Given the description of an element on the screen output the (x, y) to click on. 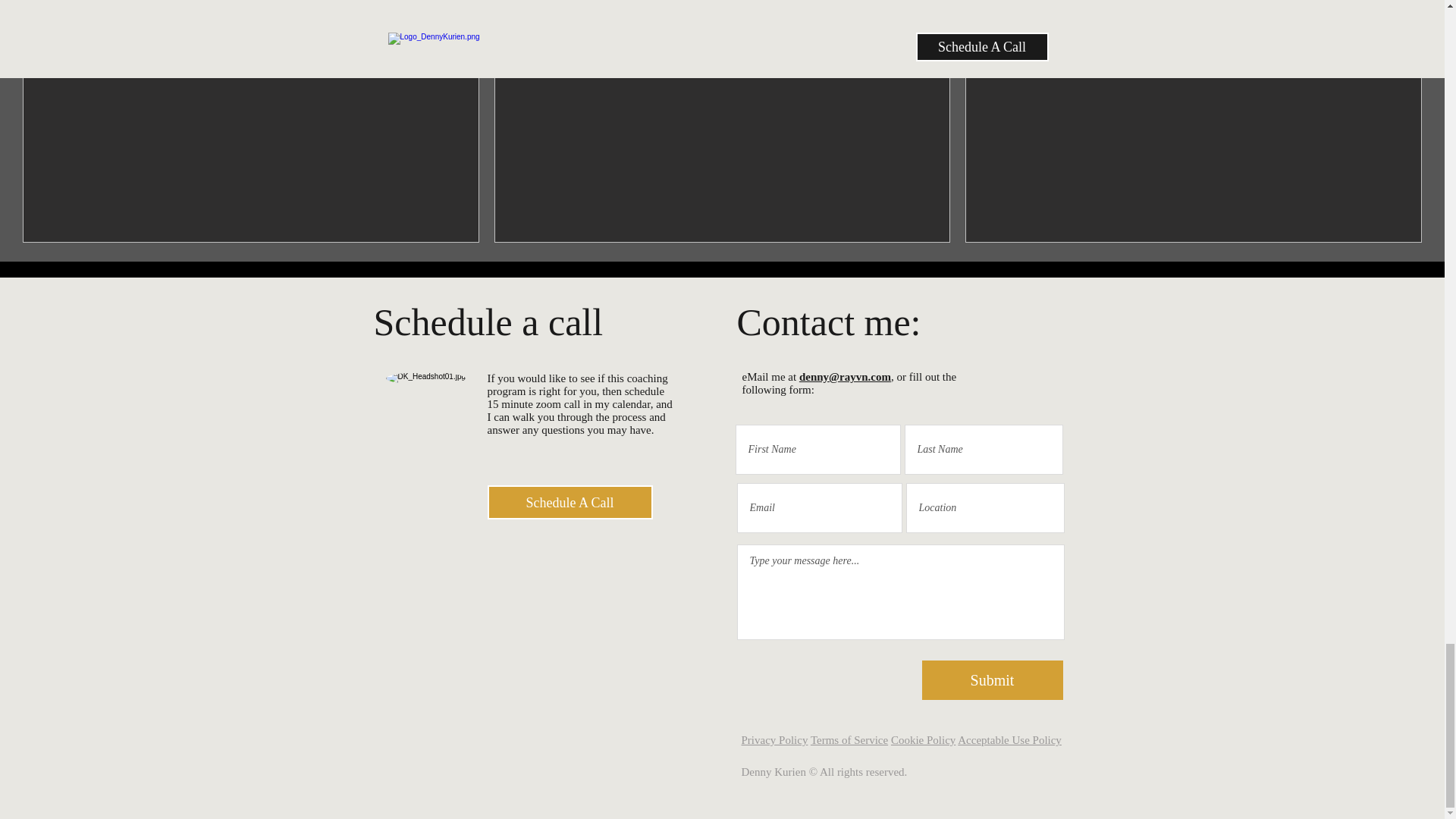
Acceptable Use Policy (1009, 739)
Cookie Policy (923, 739)
Terms of Service (849, 739)
Schedule A Call (569, 502)
Privacy Policy (774, 739)
Submit (991, 680)
